Given the description of an element on the screen output the (x, y) to click on. 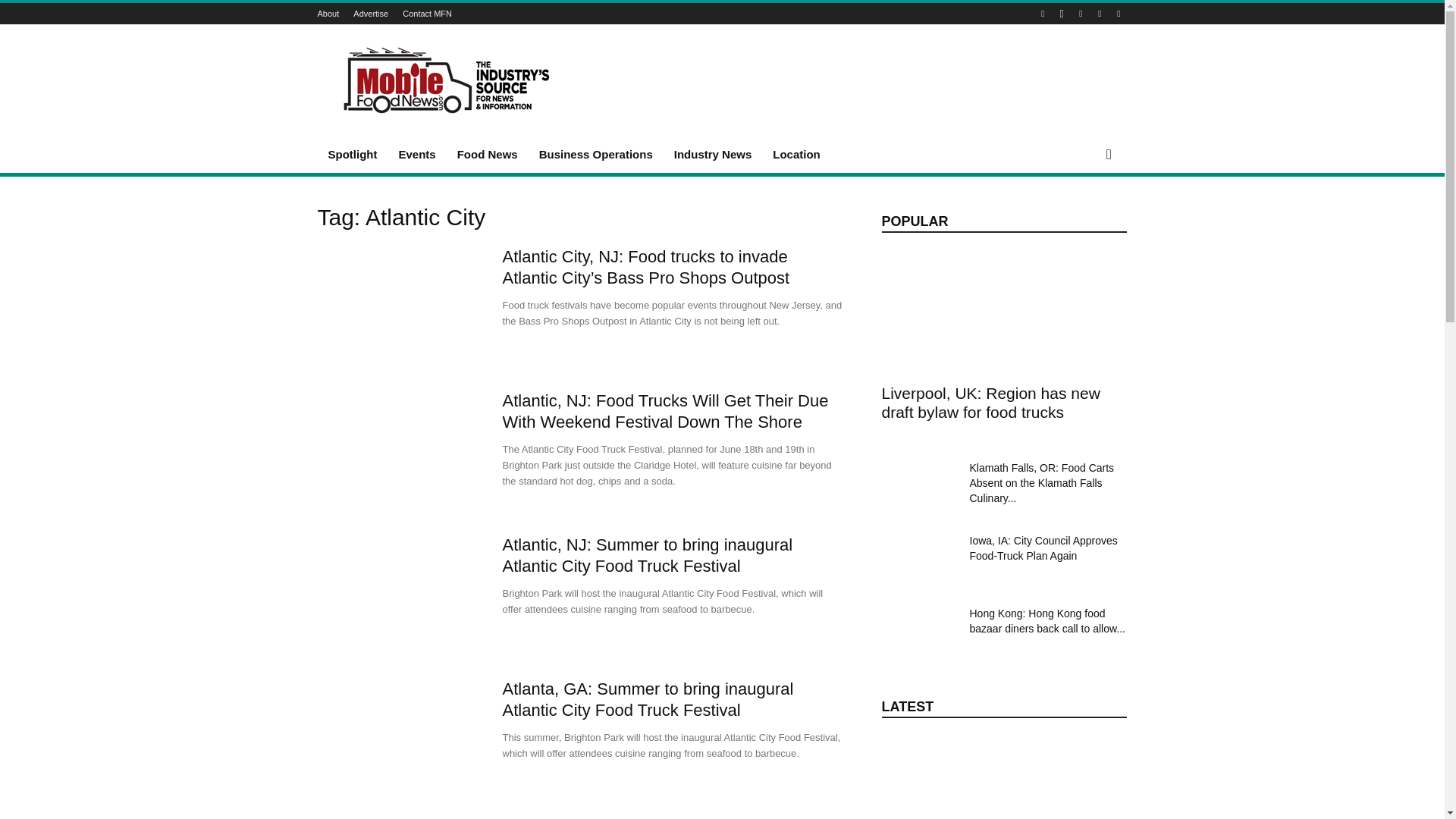
Contact MFN (427, 13)
Advertise (370, 13)
About (328, 13)
